Given the description of an element on the screen output the (x, y) to click on. 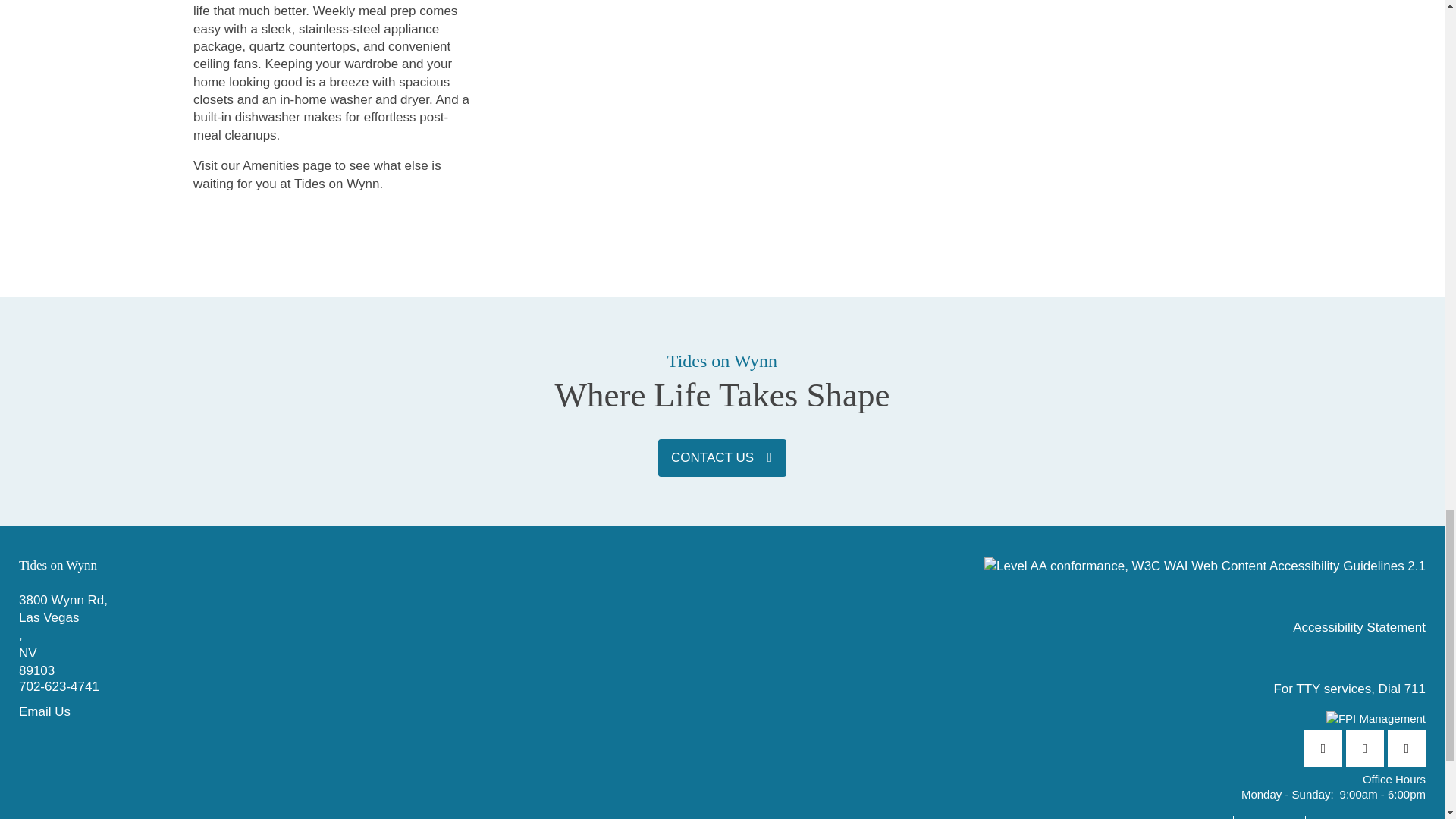
CONTACT US (722, 457)
Accessibility Statement (1358, 628)
Property Phone Number (370, 688)
Privacy Policy (1193, 817)
ADA Policy (1273, 817)
Yelp (1364, 748)
Facebook (1323, 748)
Email Us (370, 711)
Google My Business (1406, 748)
702-623-4741 (370, 635)
